Given the description of an element on the screen output the (x, y) to click on. 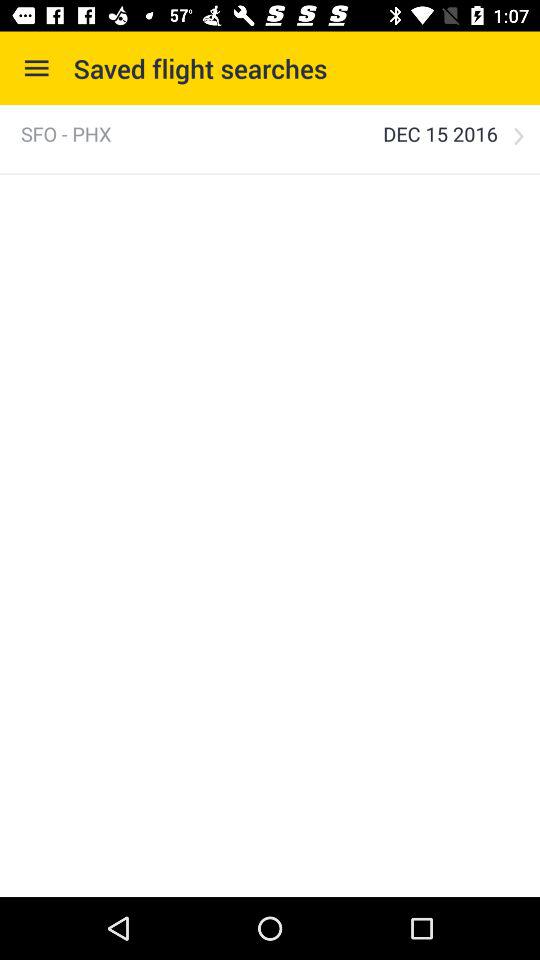
press the sfo - phx (66, 133)
